Given the description of an element on the screen output the (x, y) to click on. 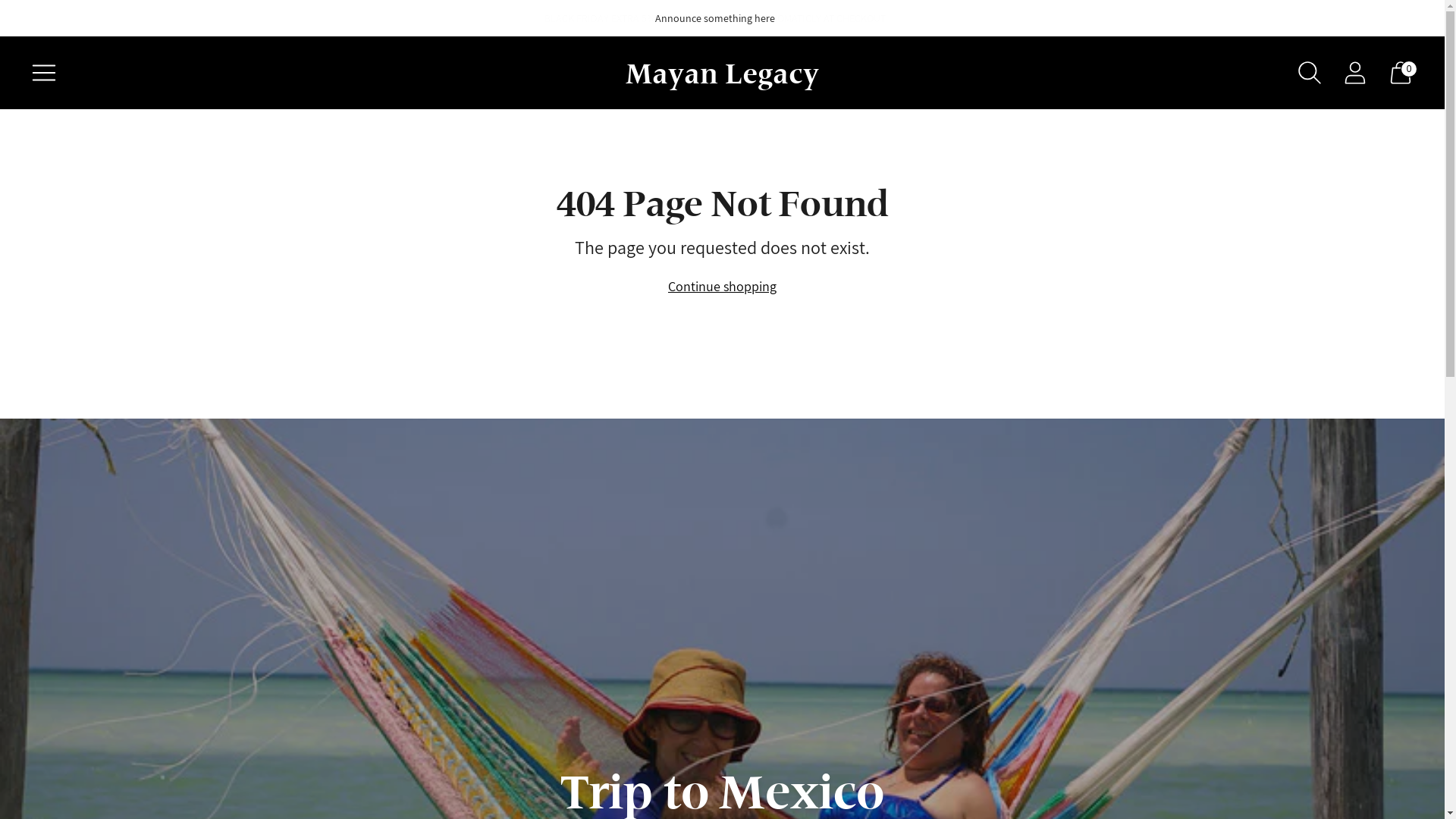
0 Element type: text (1400, 72)
Continue shopping Element type: text (722, 286)
Mayan Legacy Element type: text (722, 72)
